Given the description of an element on the screen output the (x, y) to click on. 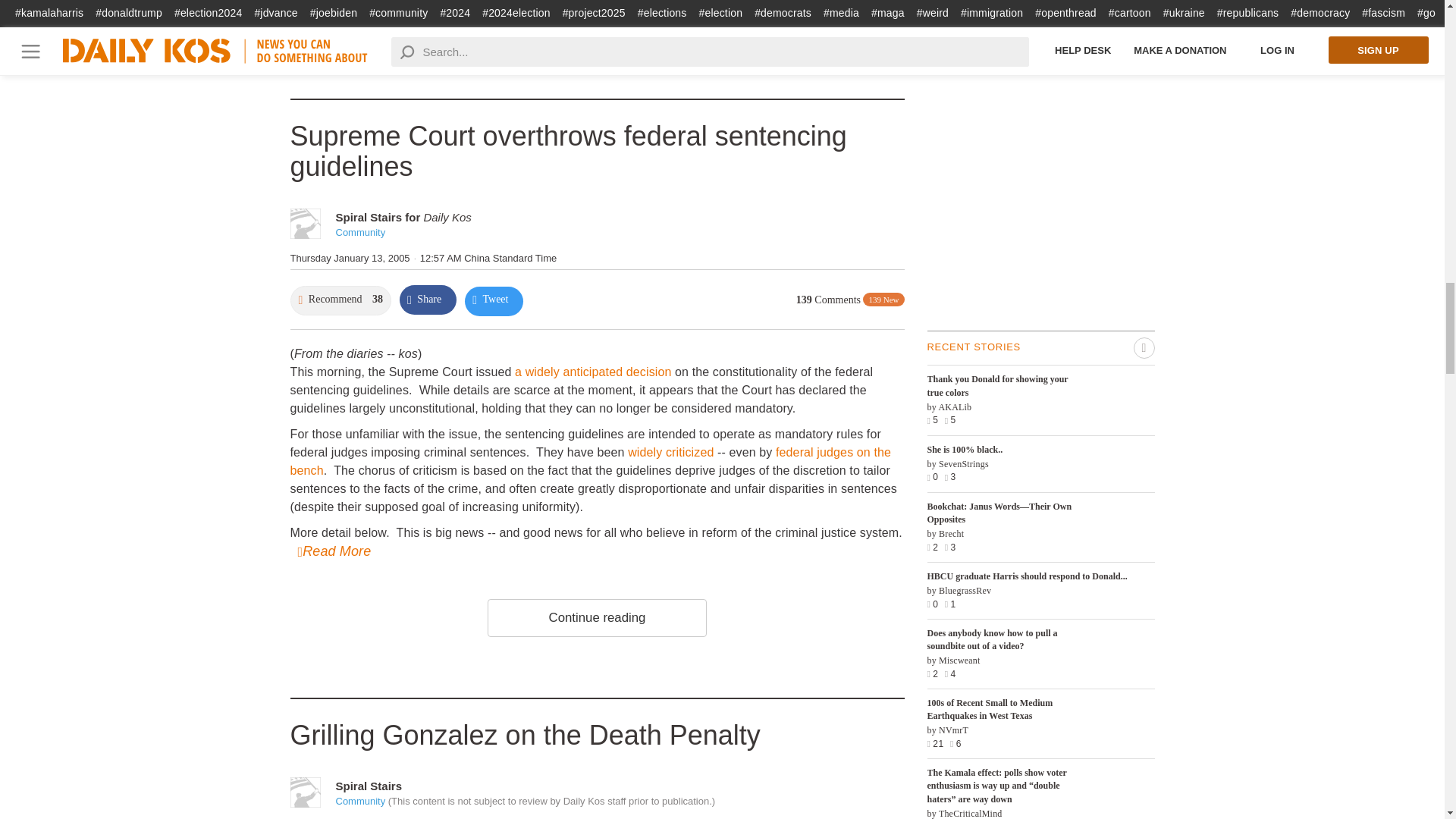
139 Comments 139 New (850, 300)
